Given the description of an element on the screen output the (x, y) to click on. 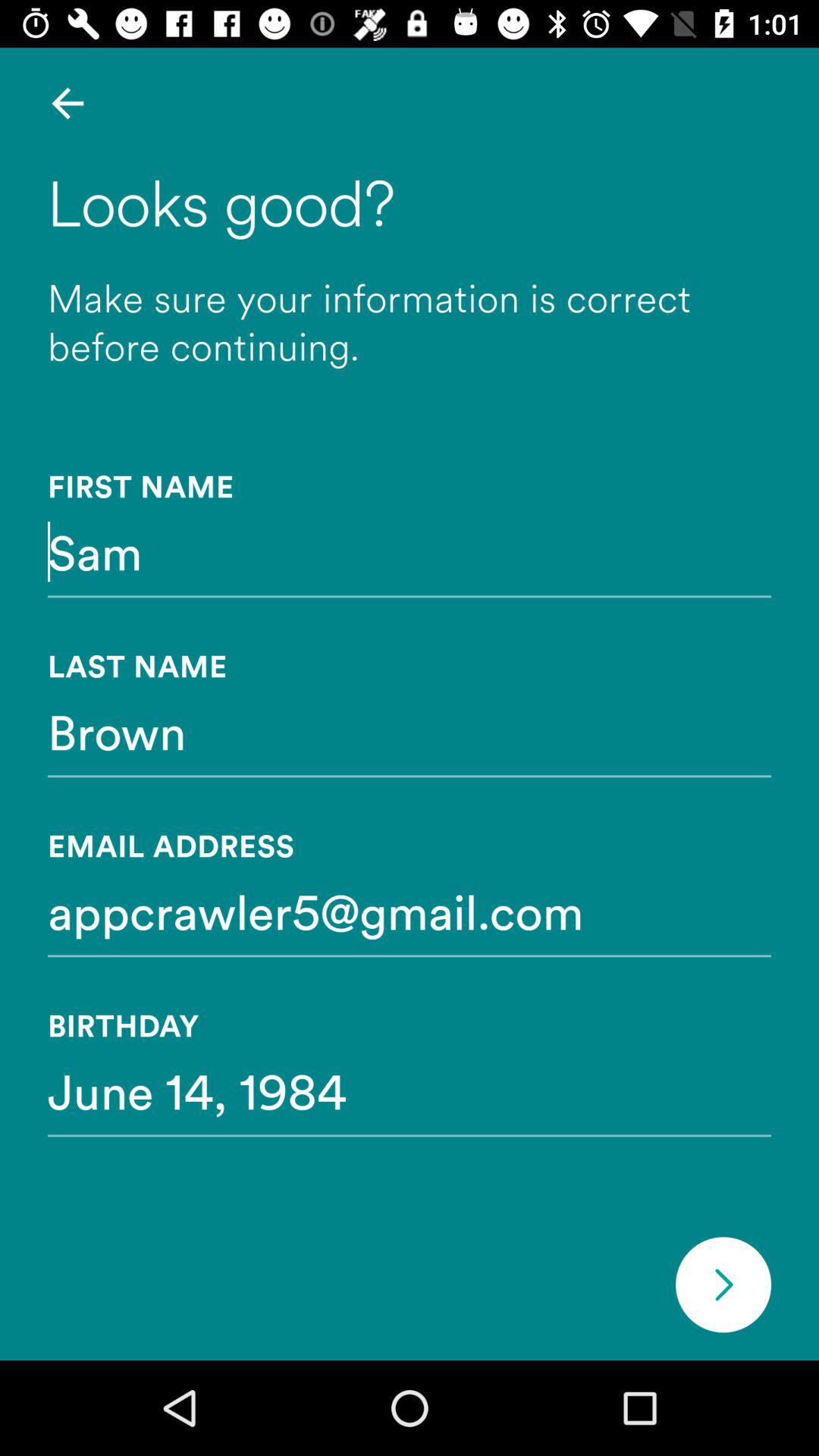
click icon above the last name item (409, 551)
